Given the description of an element on the screen output the (x, y) to click on. 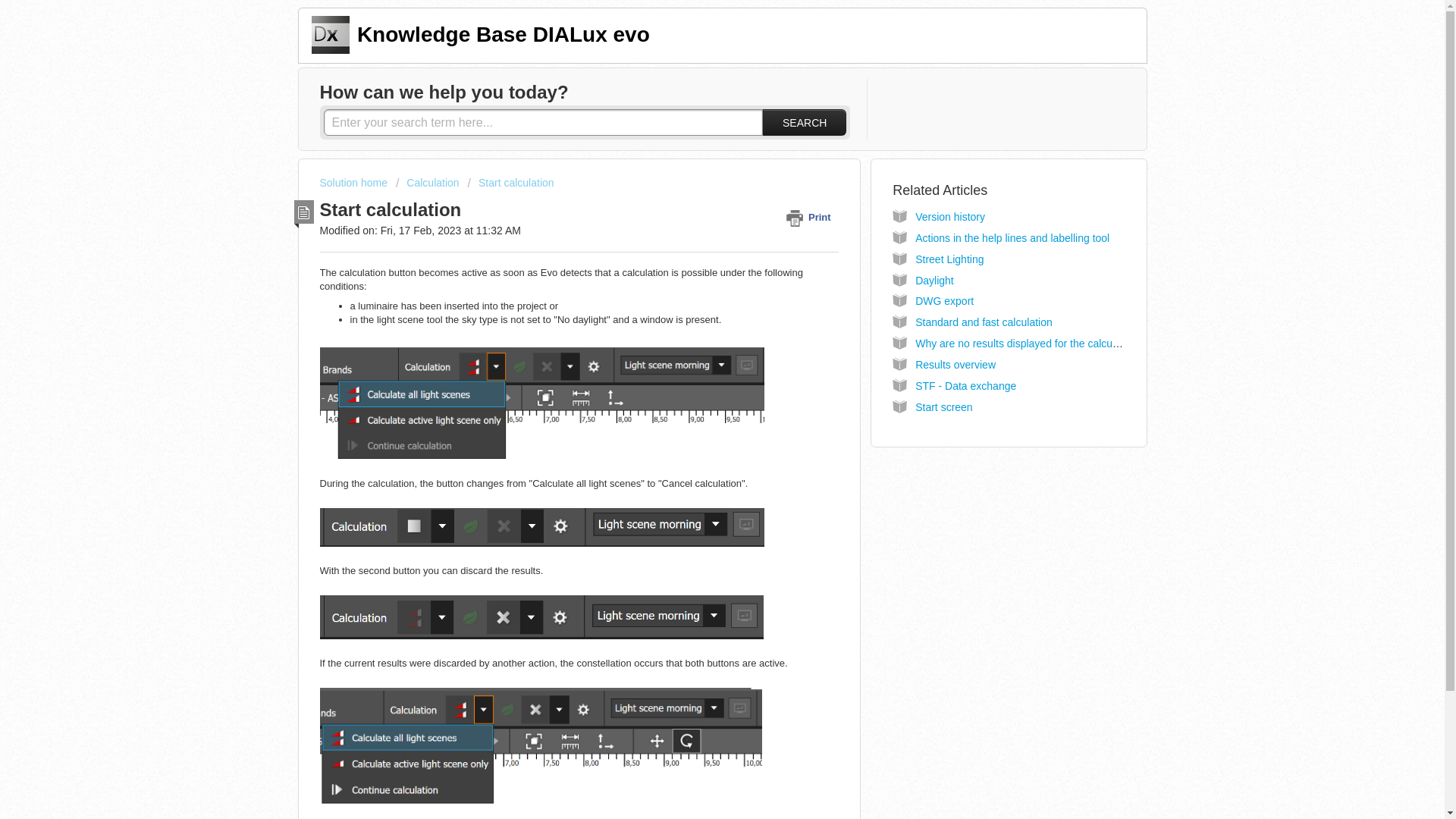
Calculation (428, 182)
Version history (950, 216)
Results overview (955, 364)
Actions in the help lines and labelling tool (1012, 237)
Why are no results displayed for the calculation surface? (1047, 343)
Start calculation (510, 182)
STF - Data exchange (965, 386)
DWG export (944, 300)
Print this Article (812, 216)
Print (812, 216)
